Given the description of an element on the screen output the (x, y) to click on. 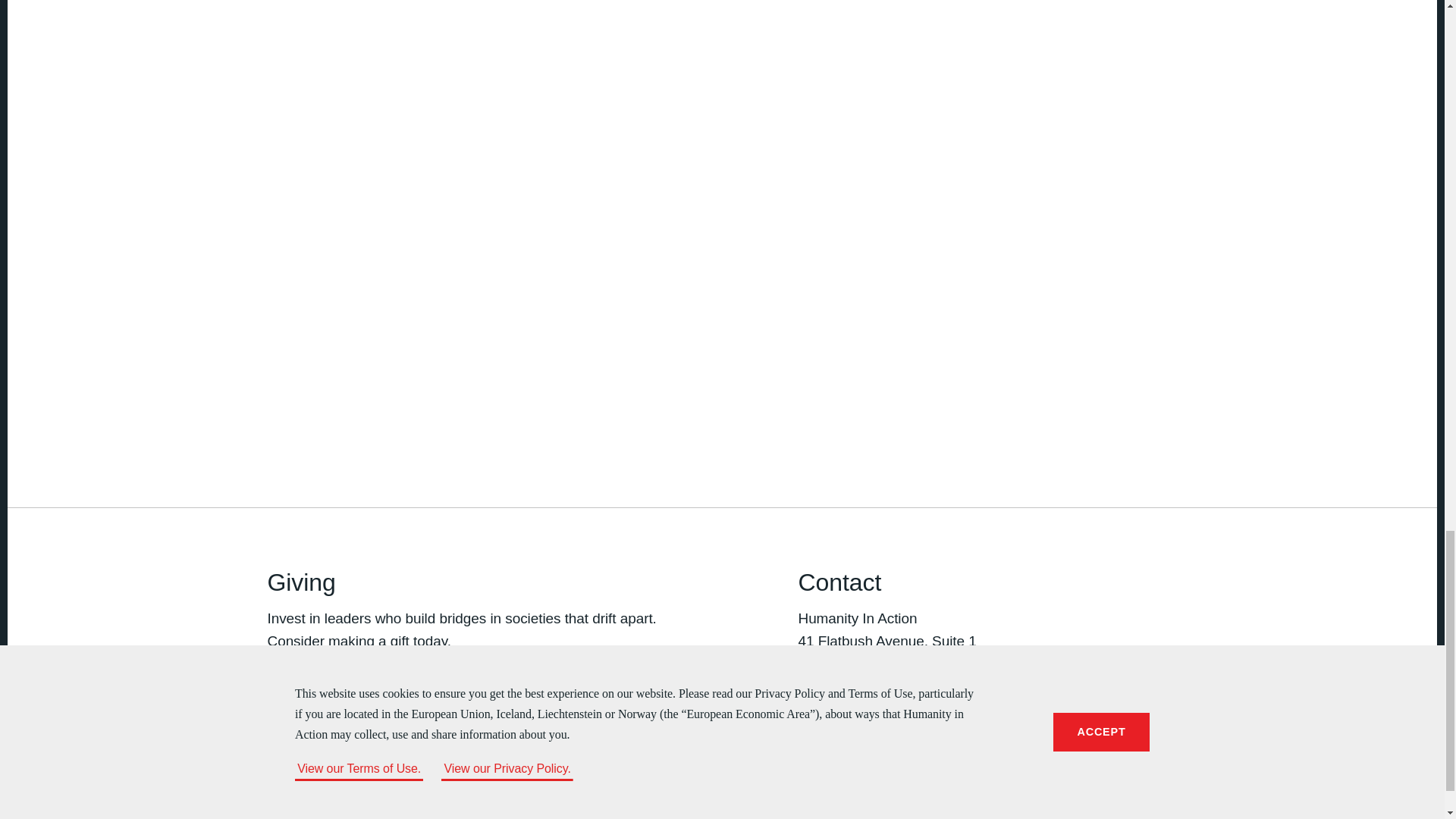
YOUTUBE (899, 723)
FACEBOOK (806, 723)
TWITTER (837, 723)
INSTAGRAM (868, 723)
